Given the description of an element on the screen output the (x, y) to click on. 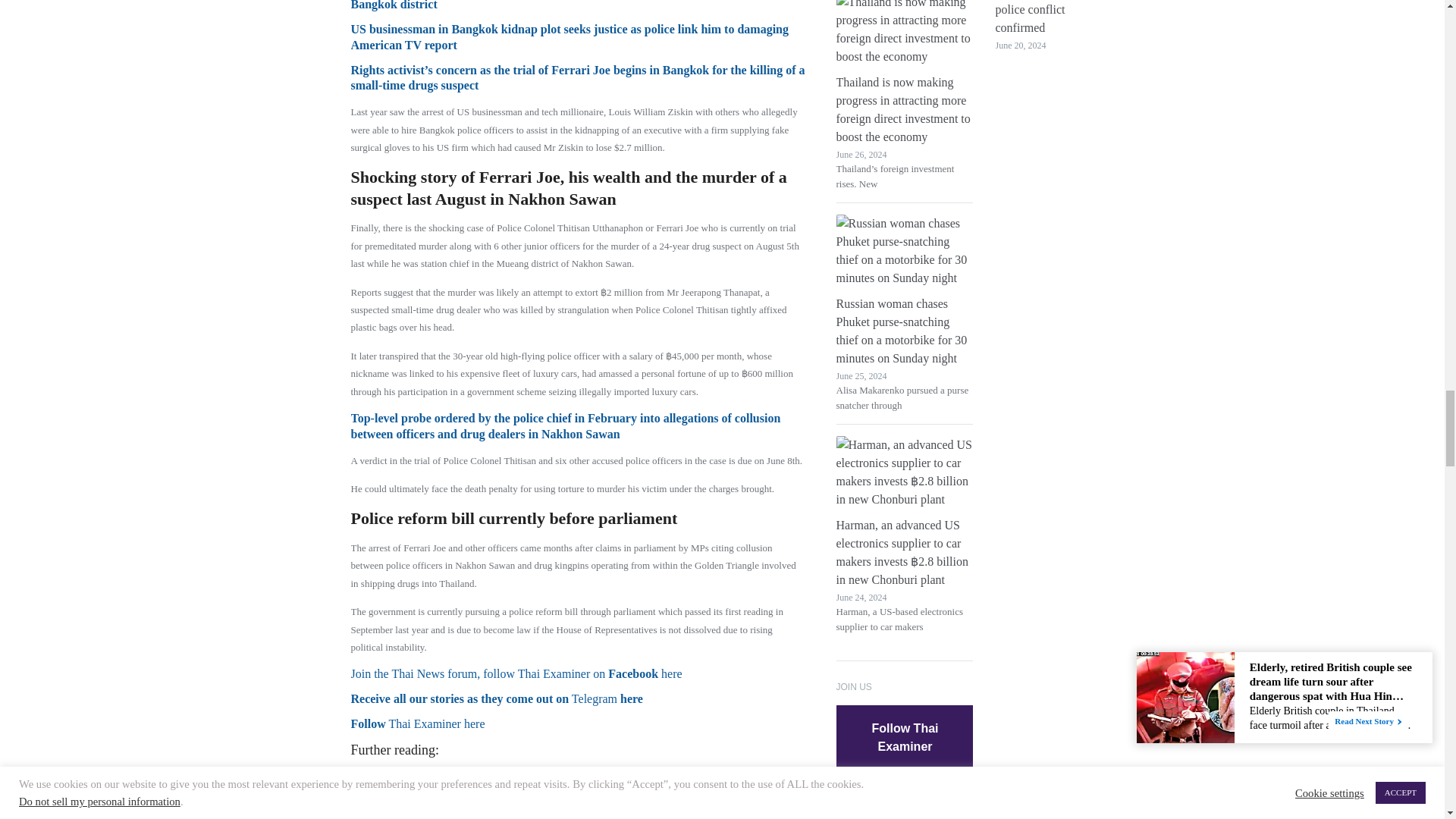
Subscribe (904, 811)
